Given the description of an element on the screen output the (x, y) to click on. 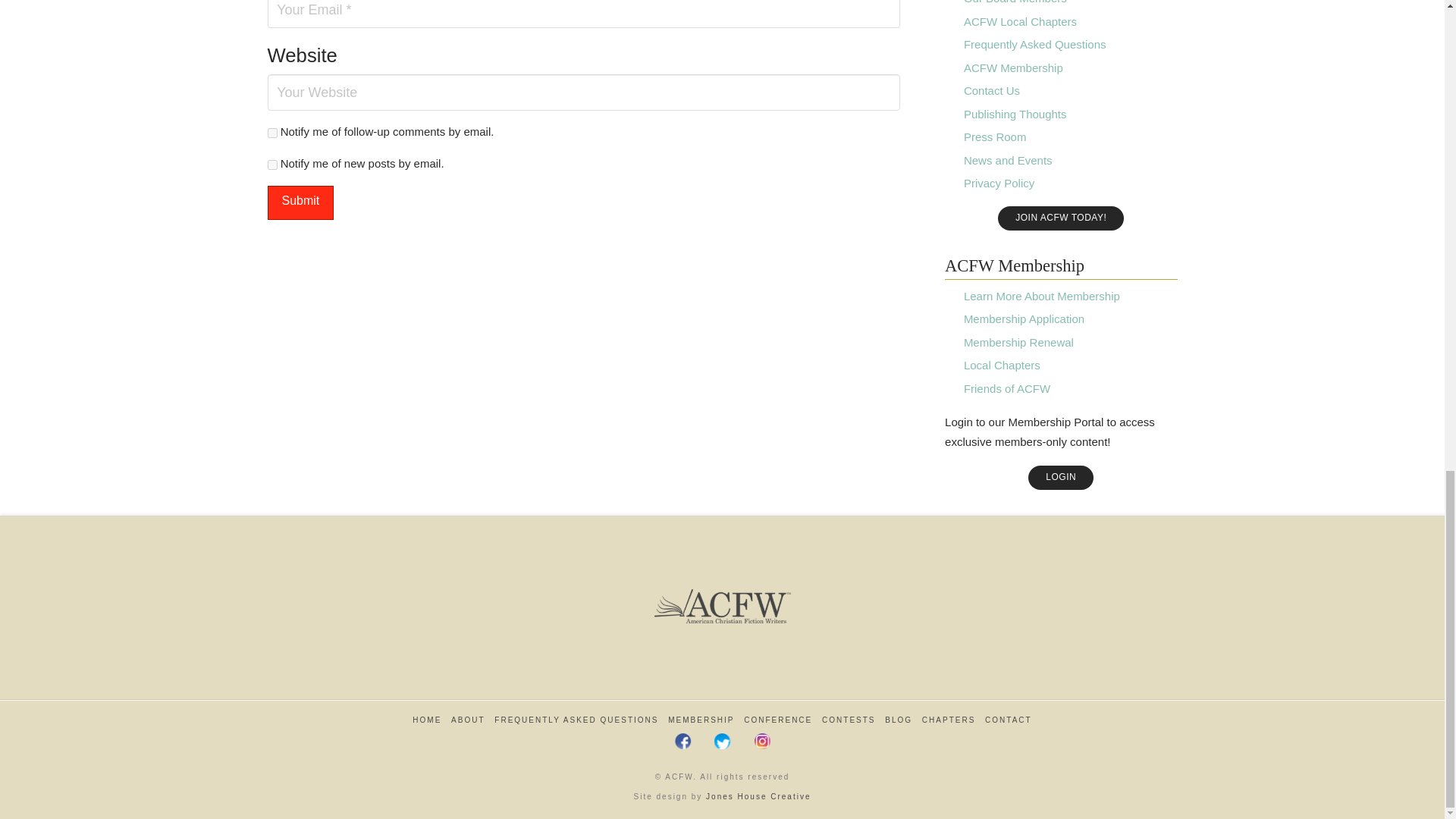
subscribe (271, 164)
Instagram (762, 740)
subscribe (271, 132)
Submit (299, 202)
Facebook (683, 740)
